Given the description of an element on the screen output the (x, y) to click on. 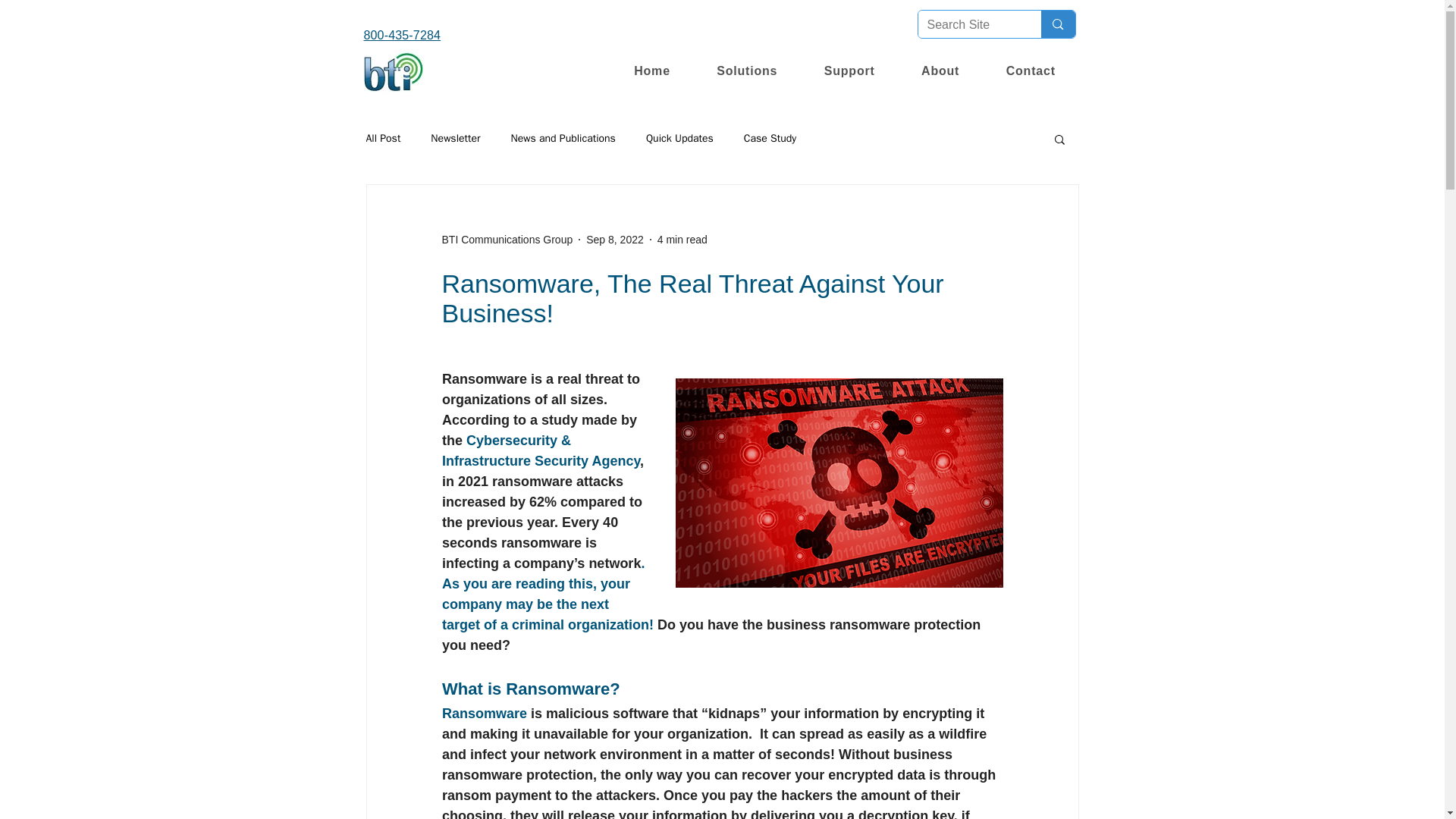
Home (652, 70)
BTI Communications Group (506, 239)
Sep 8, 2022 (614, 239)
4 min read (682, 239)
